Given the description of an element on the screen output the (x, y) to click on. 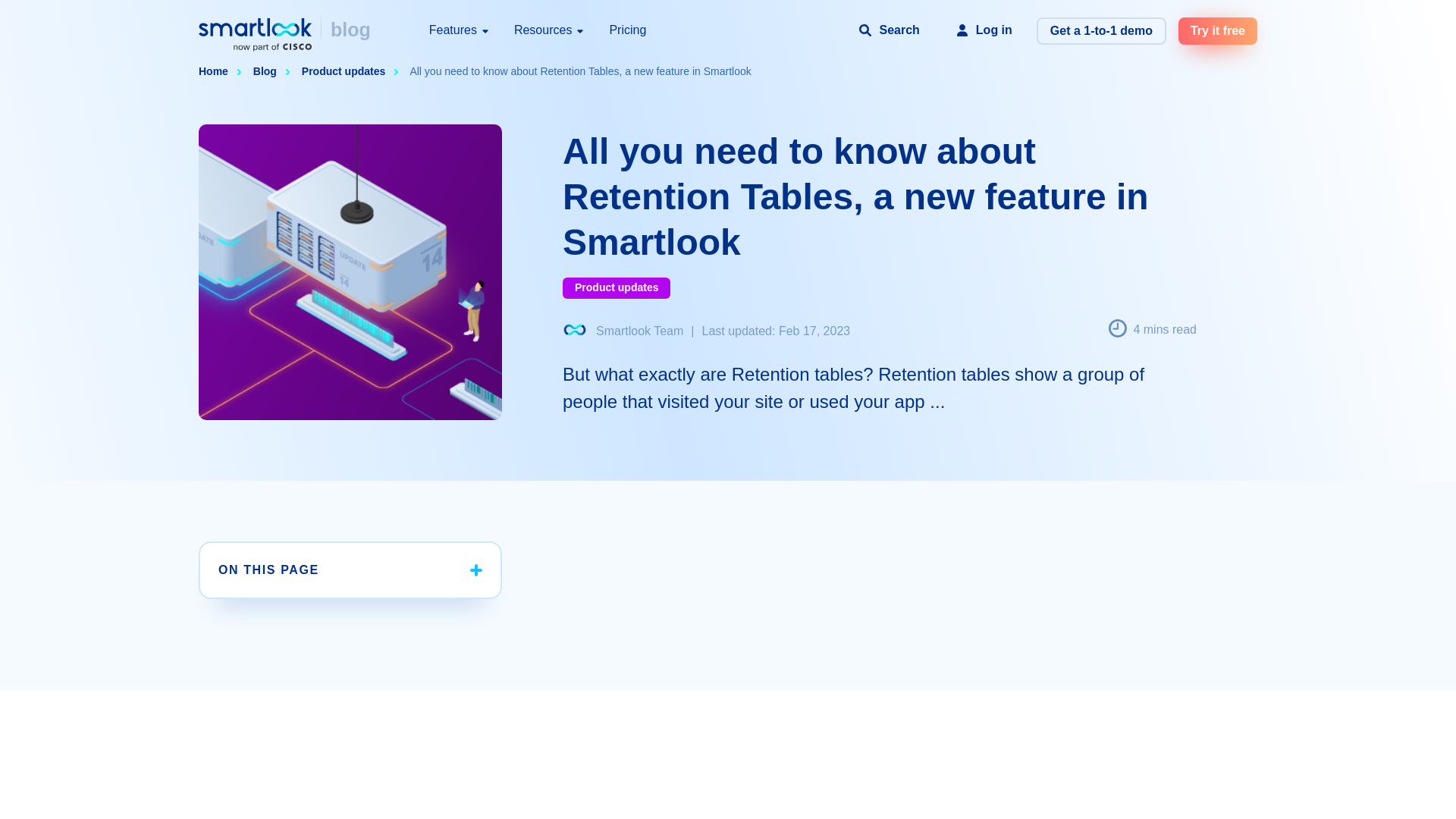
Try it free (1217, 30)
Search (889, 30)
Get a 1-to-1 demo (1101, 30)
Log in (984, 30)
blog (350, 29)
